Given the description of an element on the screen output the (x, y) to click on. 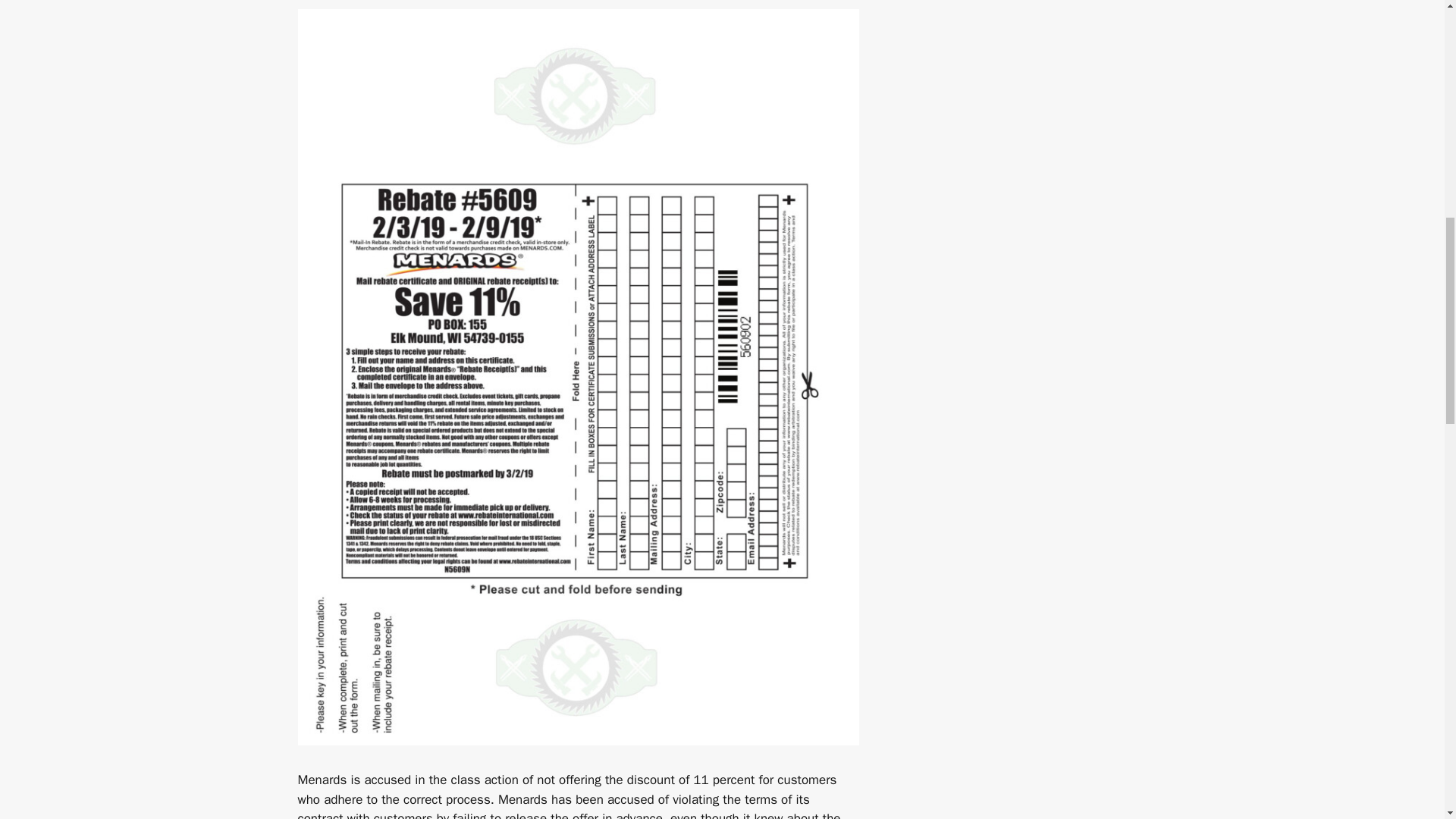
Scroll back to top (1406, 720)
